Given the description of an element on the screen output the (x, y) to click on. 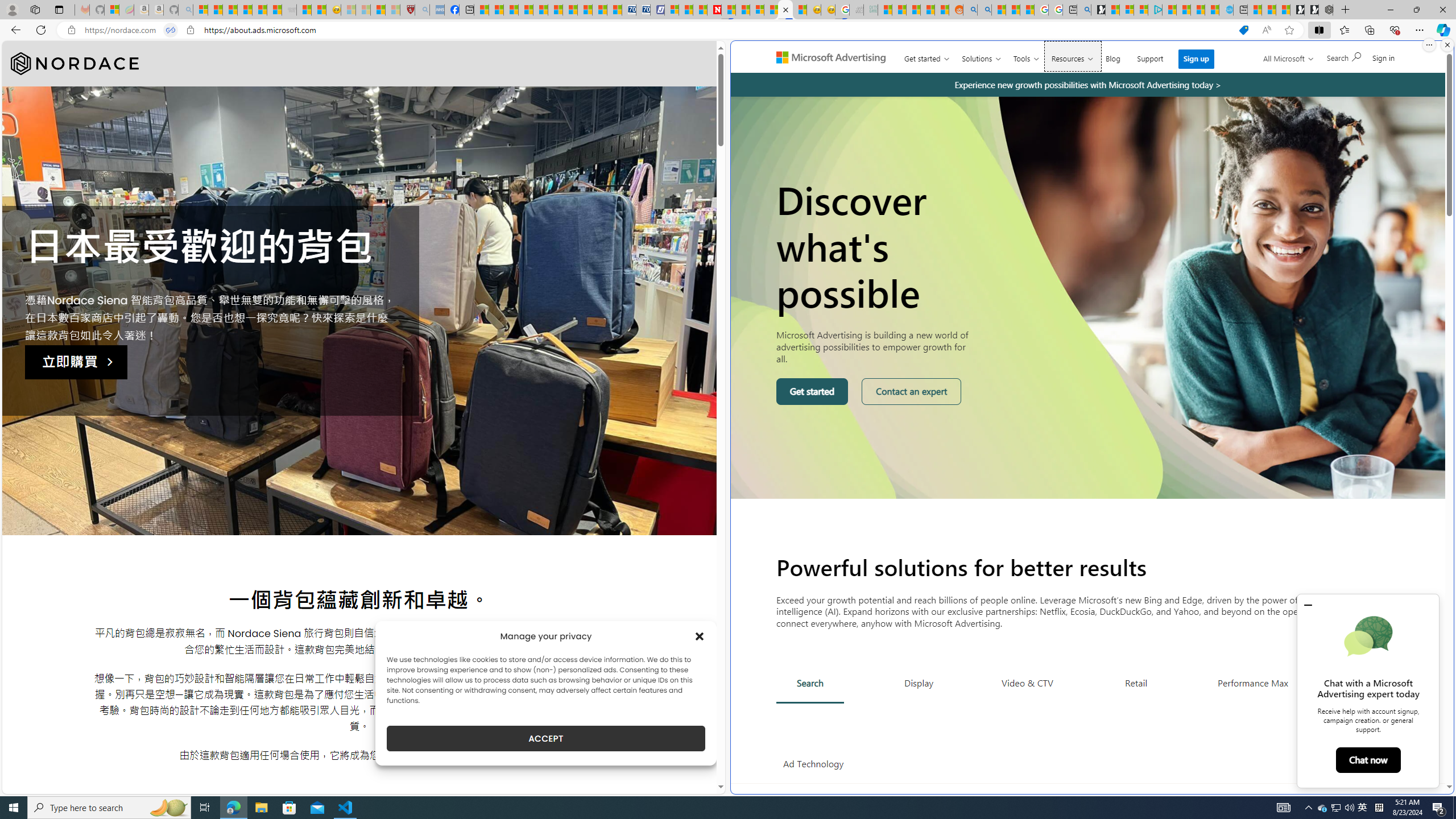
Video & CTV (1026, 682)
Support (1149, 55)
More options. (1428, 45)
12 Popular Science Lies that Must be Corrected - Sleeping (392, 9)
Student Loan Update: Forgiveness Program Ends This Month (927, 9)
Blog (1112, 56)
Utah sues federal government - Search (983, 9)
